Given the description of an element on the screen output the (x, y) to click on. 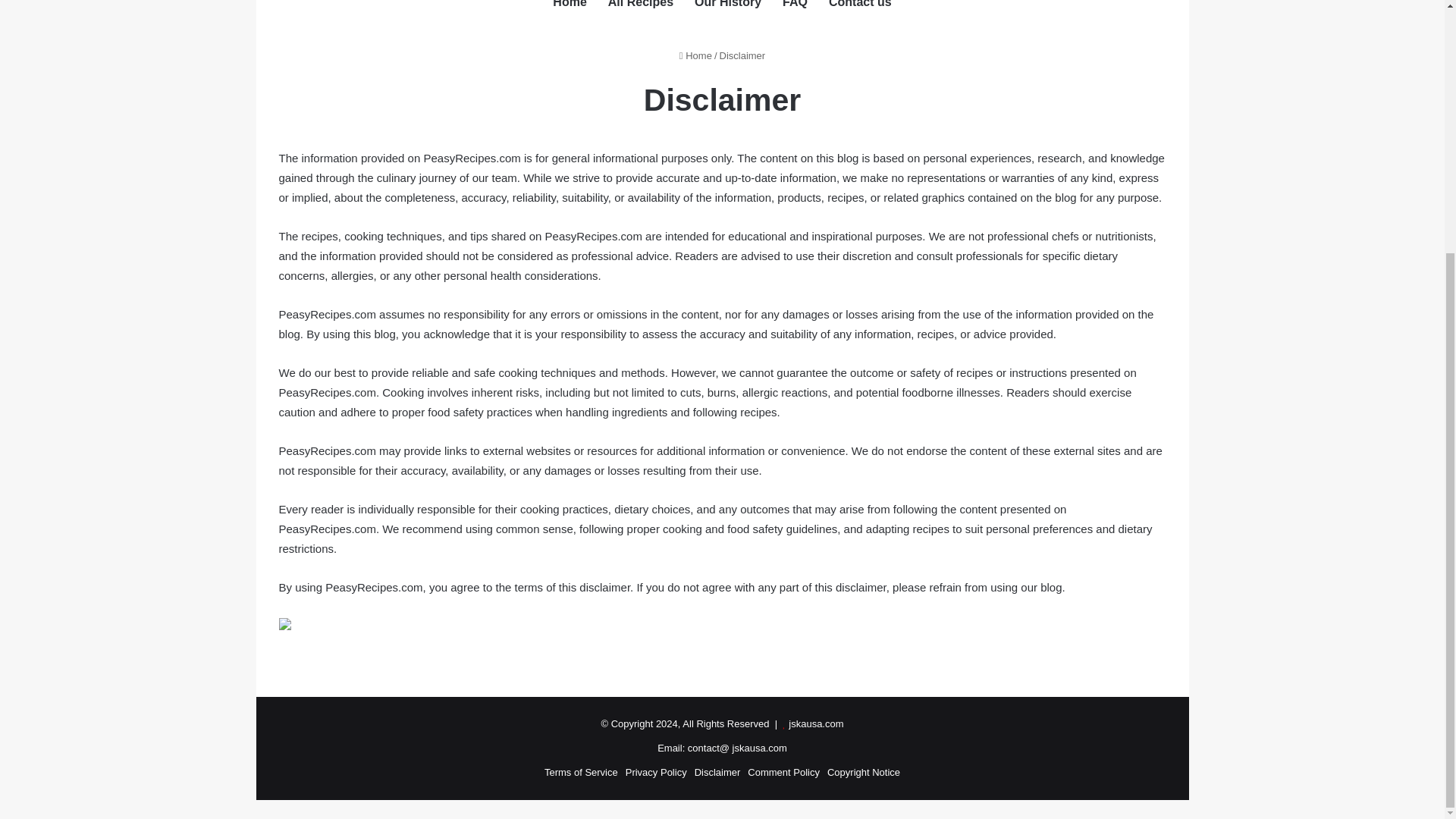
Contact us (860, 12)
All Recipes (640, 12)
FAQ (794, 12)
jskausa.com (816, 723)
Our History (727, 12)
Disclaimer (717, 772)
Comment Policy (783, 772)
Privacy Policy (656, 772)
Home (695, 55)
Home (568, 12)
Copyright Notice (863, 772)
Terms of Service (580, 772)
